Given the description of an element on the screen output the (x, y) to click on. 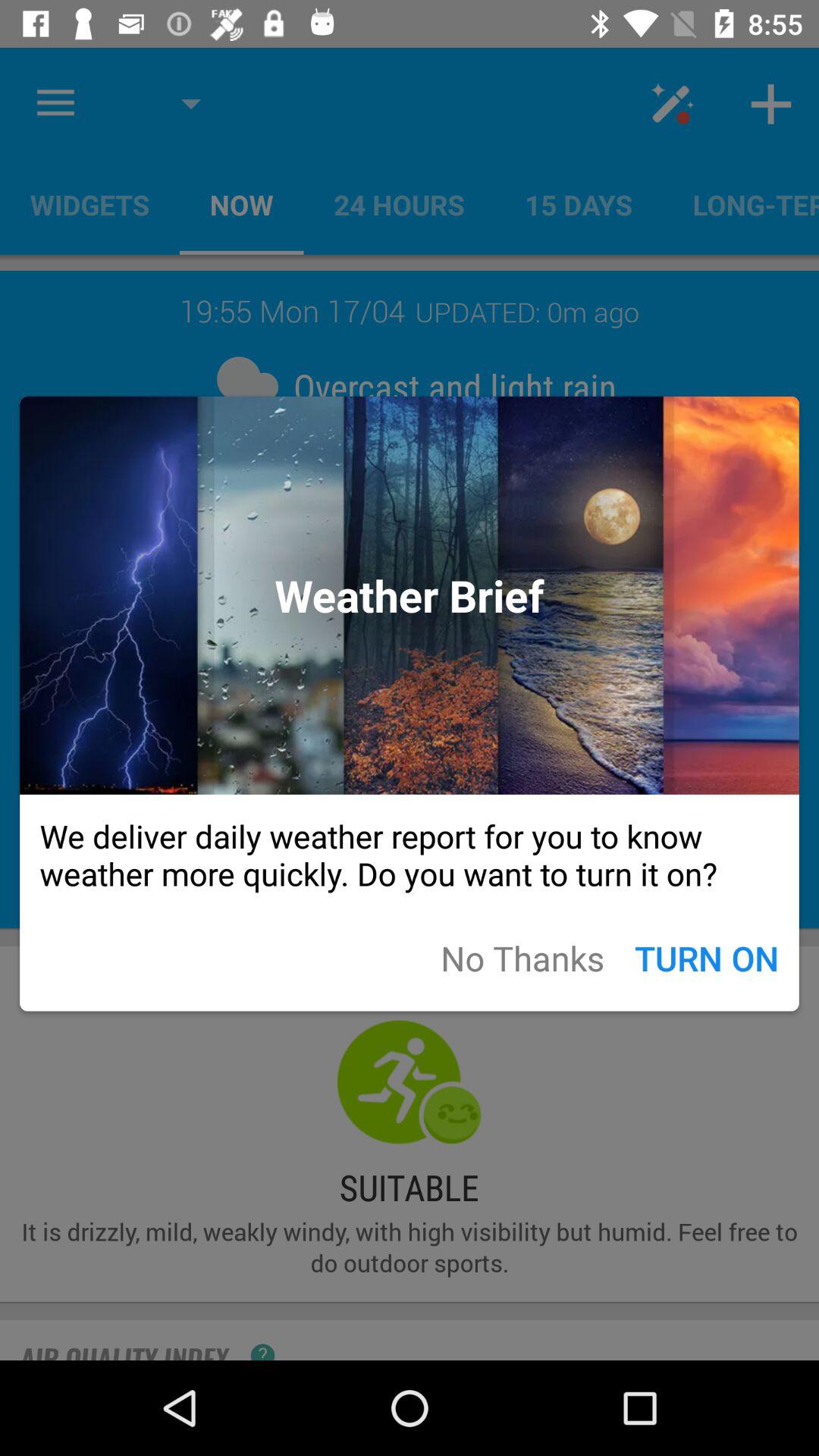
launch the app to the left of turn on app (522, 958)
